Given the description of an element on the screen output the (x, y) to click on. 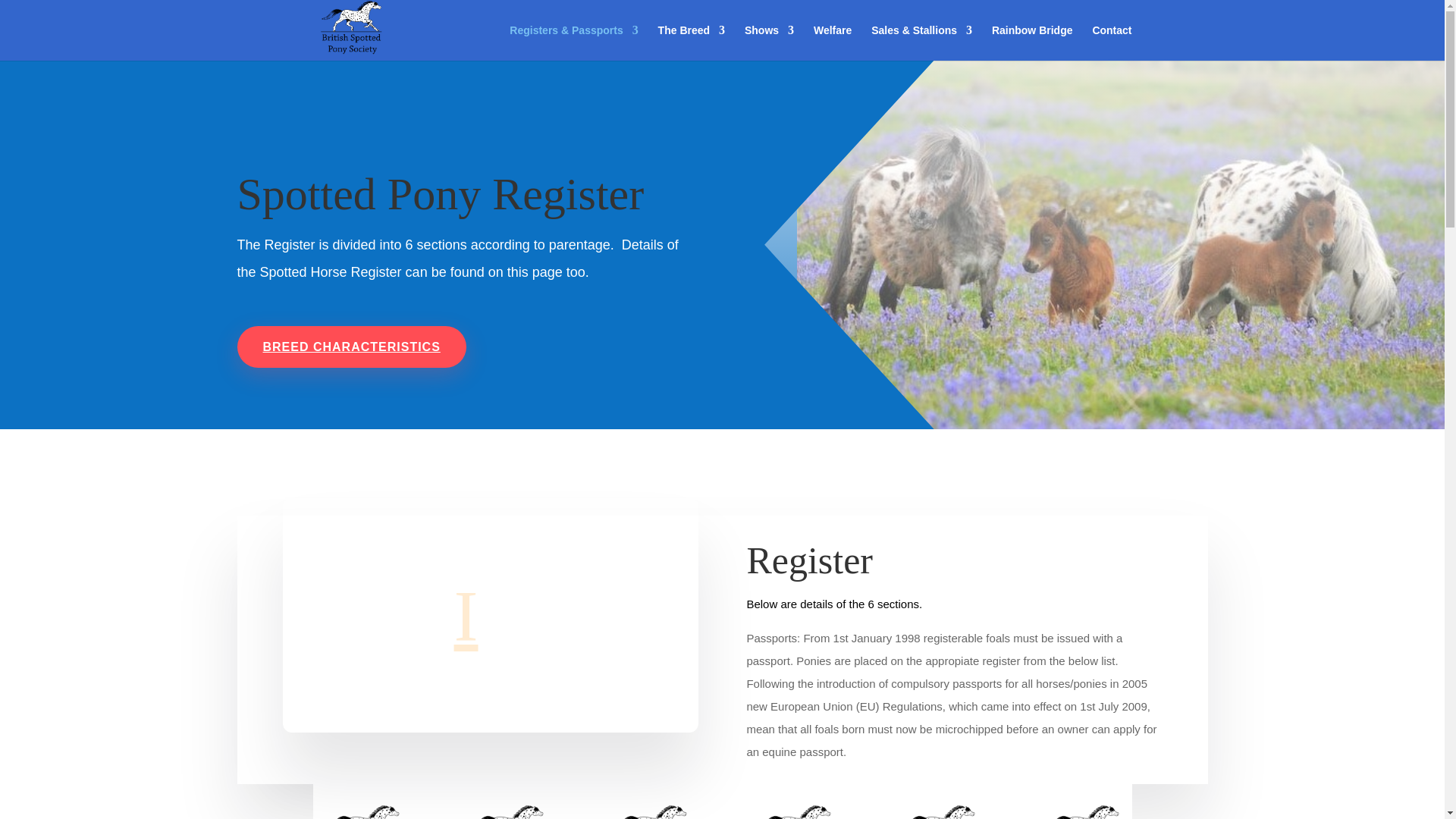
Rainbow Bridge (1032, 42)
BREED CHARACTERISTICS (350, 346)
Shows (768, 42)
Welfare (832, 42)
About the British Spotted Pony - A Cute Pony Breed! (489, 614)
Contact (1111, 42)
The Breed (691, 42)
